Given the description of an element on the screen output the (x, y) to click on. 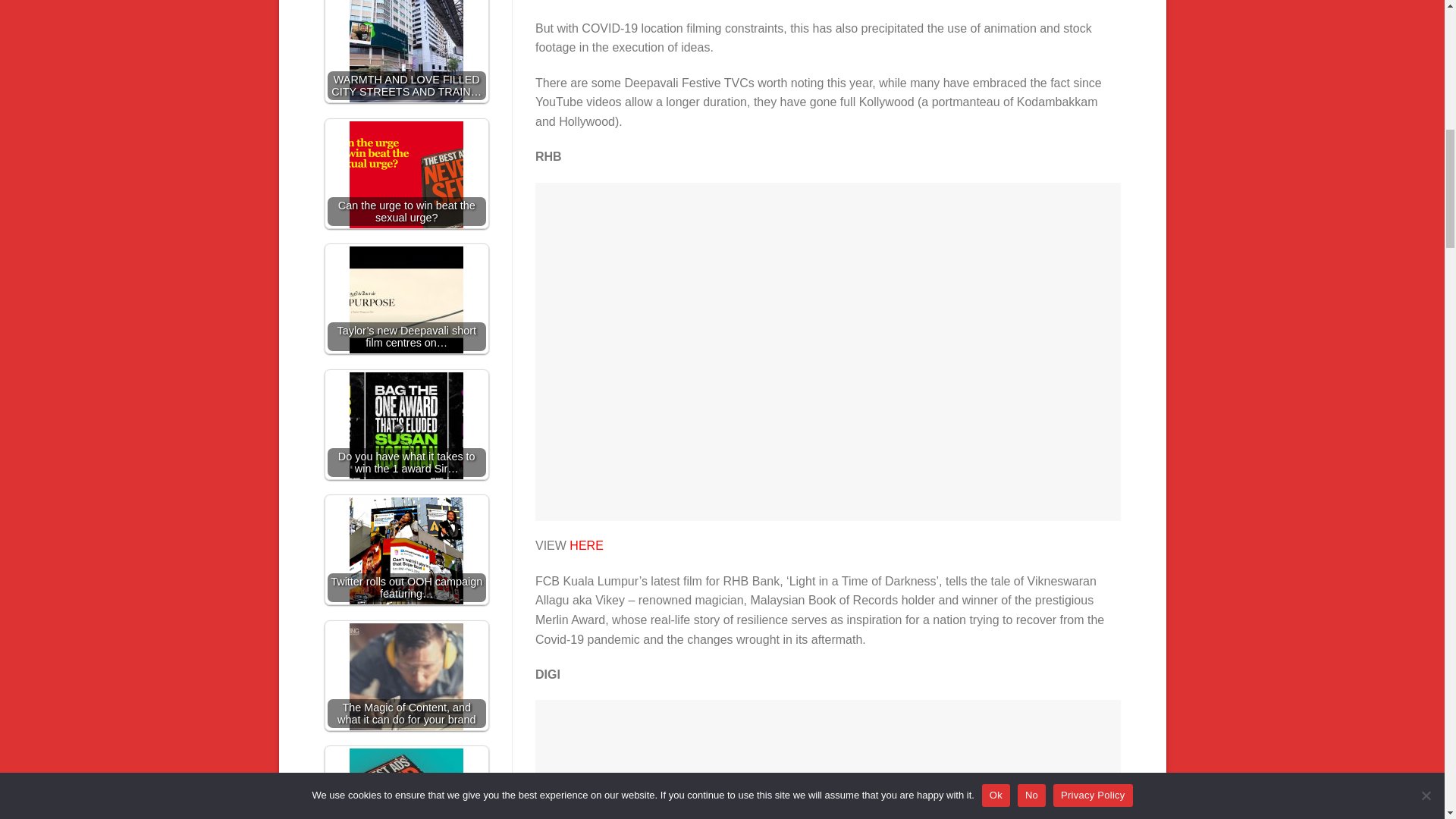
Can the urge to win beat the sexual urge? (406, 178)
The Magic of Content, and what it can do for your brand (406, 680)
